Given the description of an element on the screen output the (x, y) to click on. 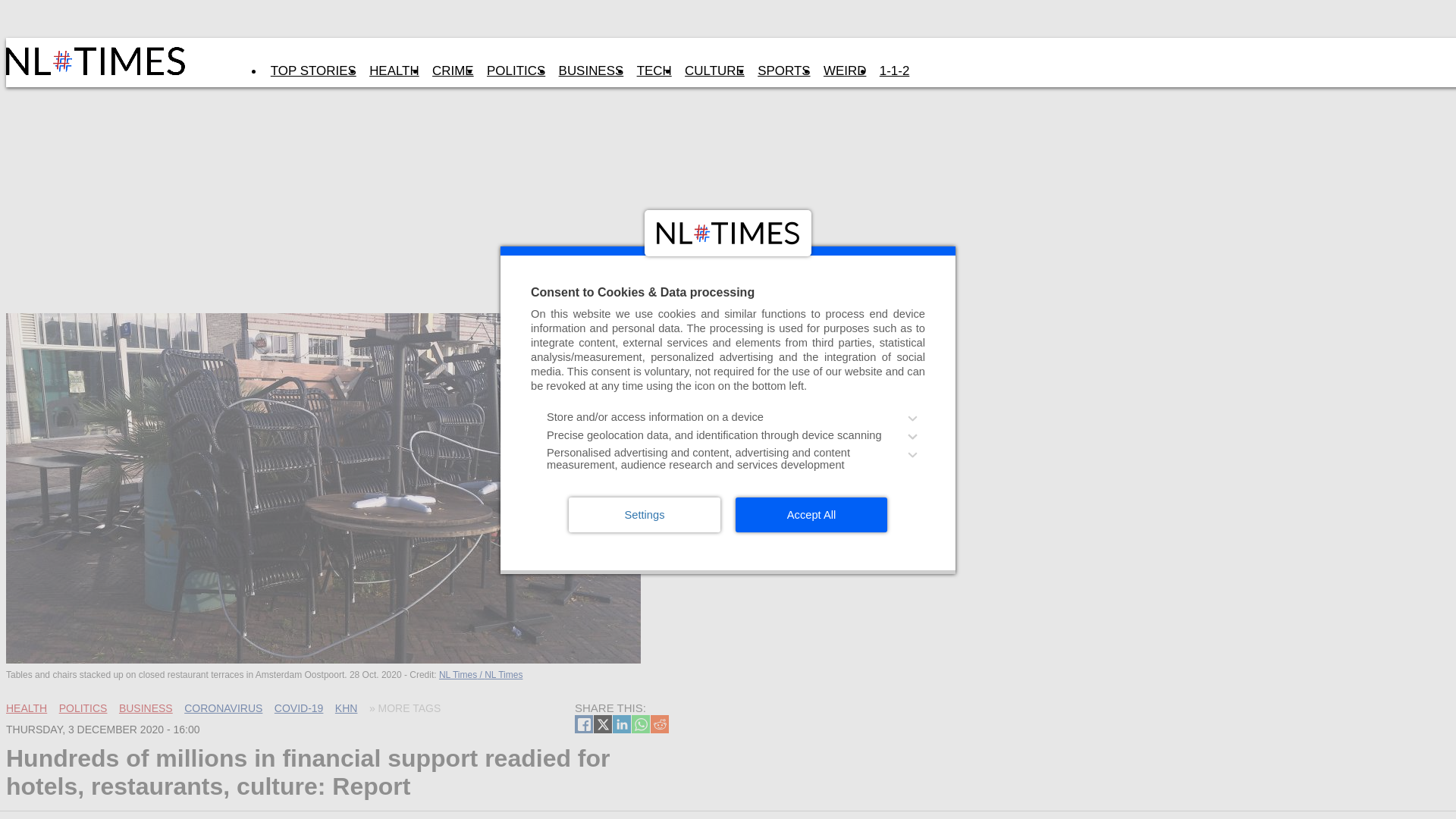
BUSINESS (590, 70)
SPORTS (783, 70)
CRIME (452, 70)
REDDIT (659, 723)
Accept All (810, 514)
COVID-19 (299, 707)
TOP STORIES (312, 70)
Home (97, 70)
Purpose (727, 441)
TWITTER (602, 723)
POLITICS (83, 707)
LINKEDIN (621, 723)
TECH (654, 70)
POLITICS (515, 70)
HEALTH (393, 70)
